Given the description of an element on the screen output the (x, y) to click on. 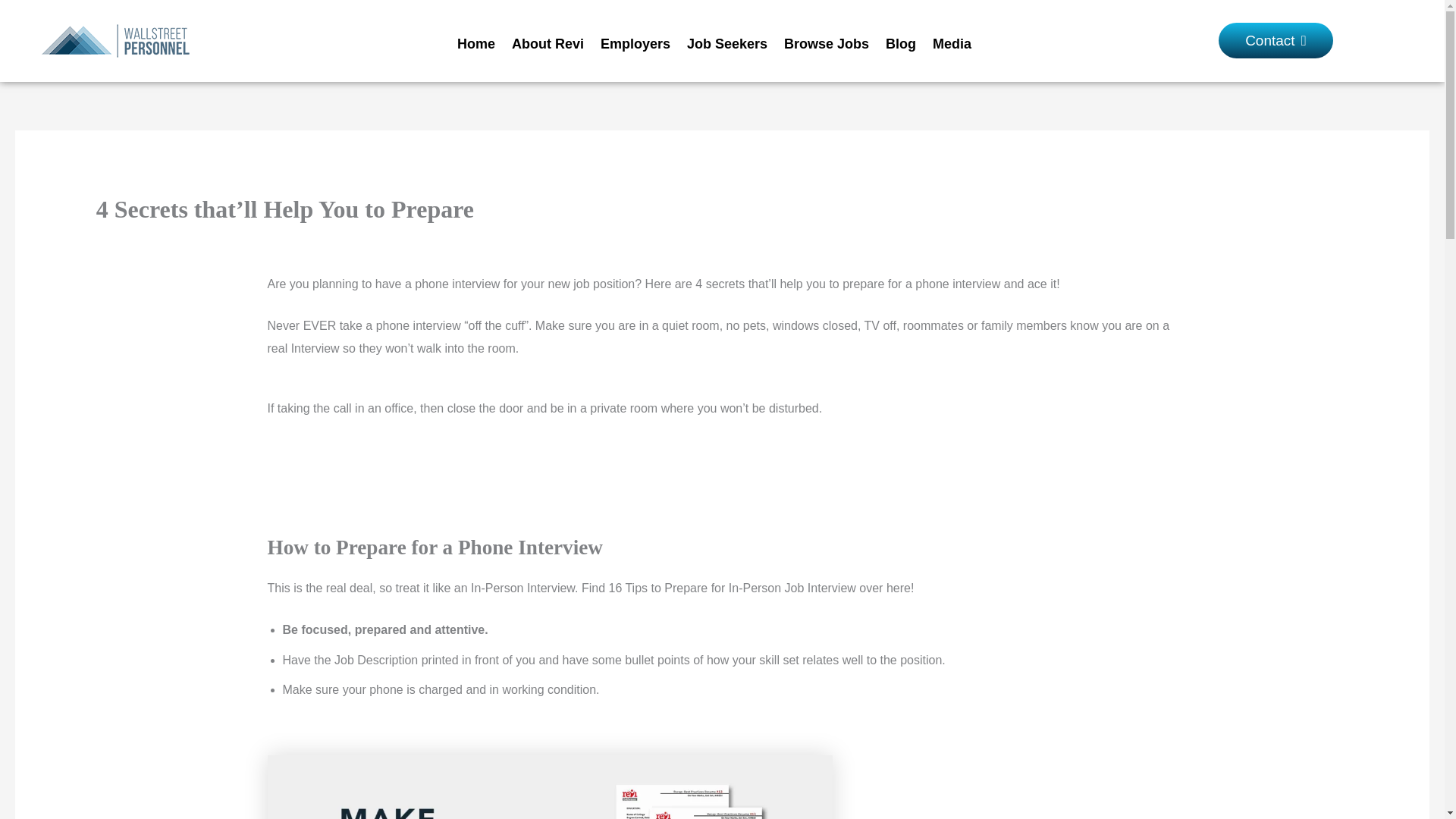
Contact (1275, 40)
Browse Jobs (826, 43)
Blog (900, 43)
About Revi (547, 43)
Job Seekers (727, 43)
Home (475, 43)
Media (951, 43)
Employers (635, 43)
